Given the description of an element on the screen output the (x, y) to click on. 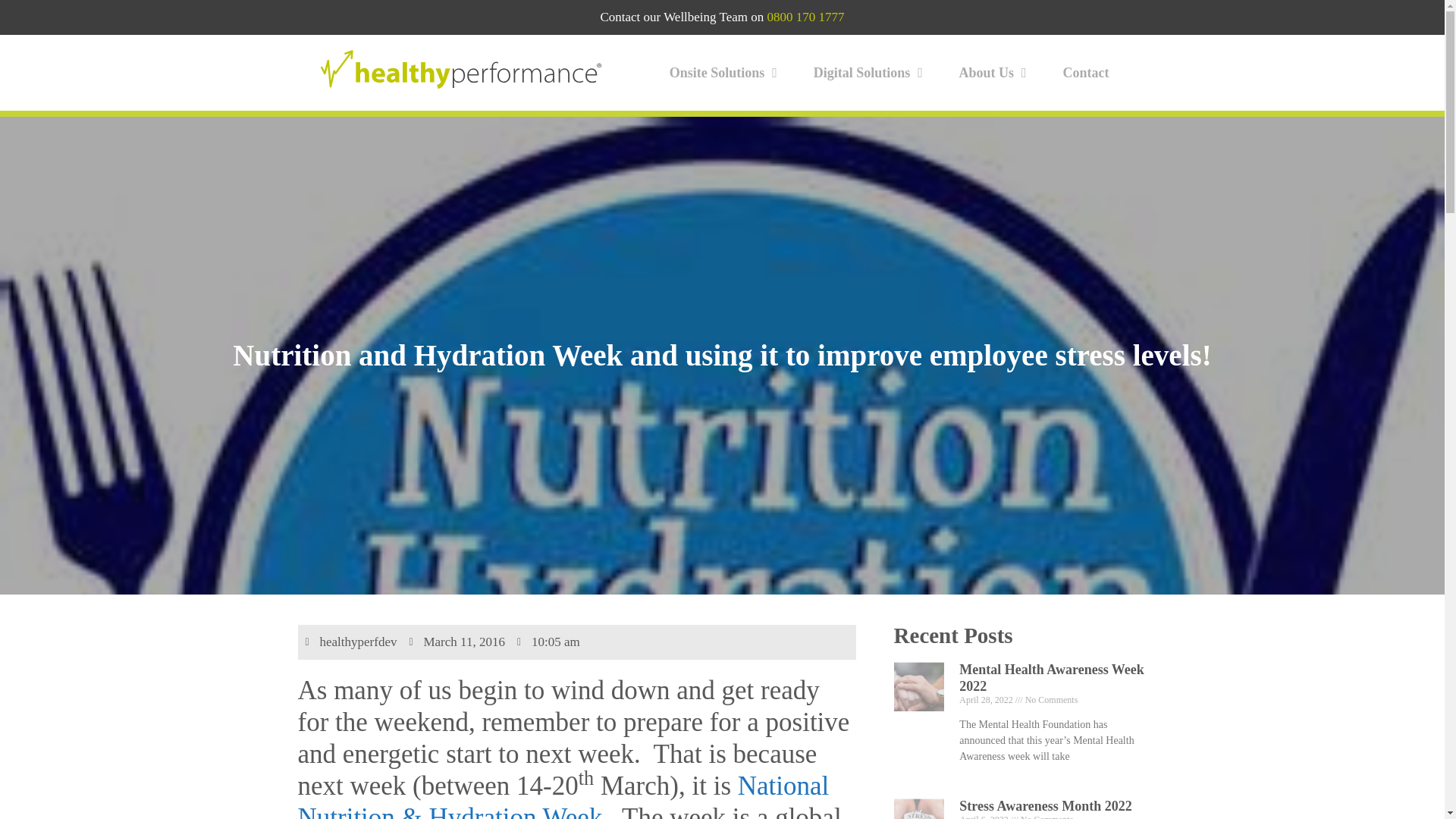
March 11, 2016 (457, 641)
0800 170 1777 (805, 16)
About Us (995, 72)
Digital Solutions (870, 72)
Onsite Solutions (725, 72)
healthyperfdev (350, 641)
Contact (1086, 72)
